Given the description of an element on the screen output the (x, y) to click on. 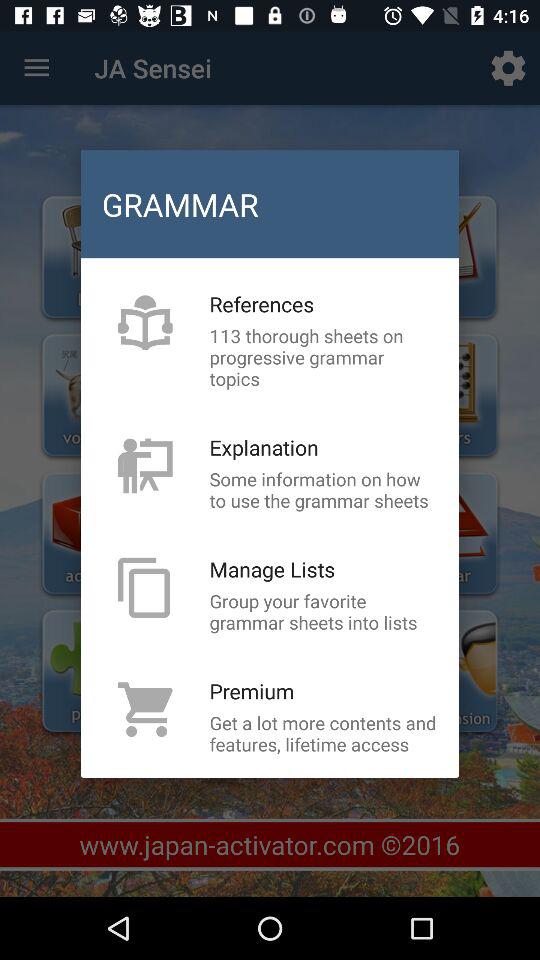
turn off references icon (261, 303)
